Given the description of an element on the screen output the (x, y) to click on. 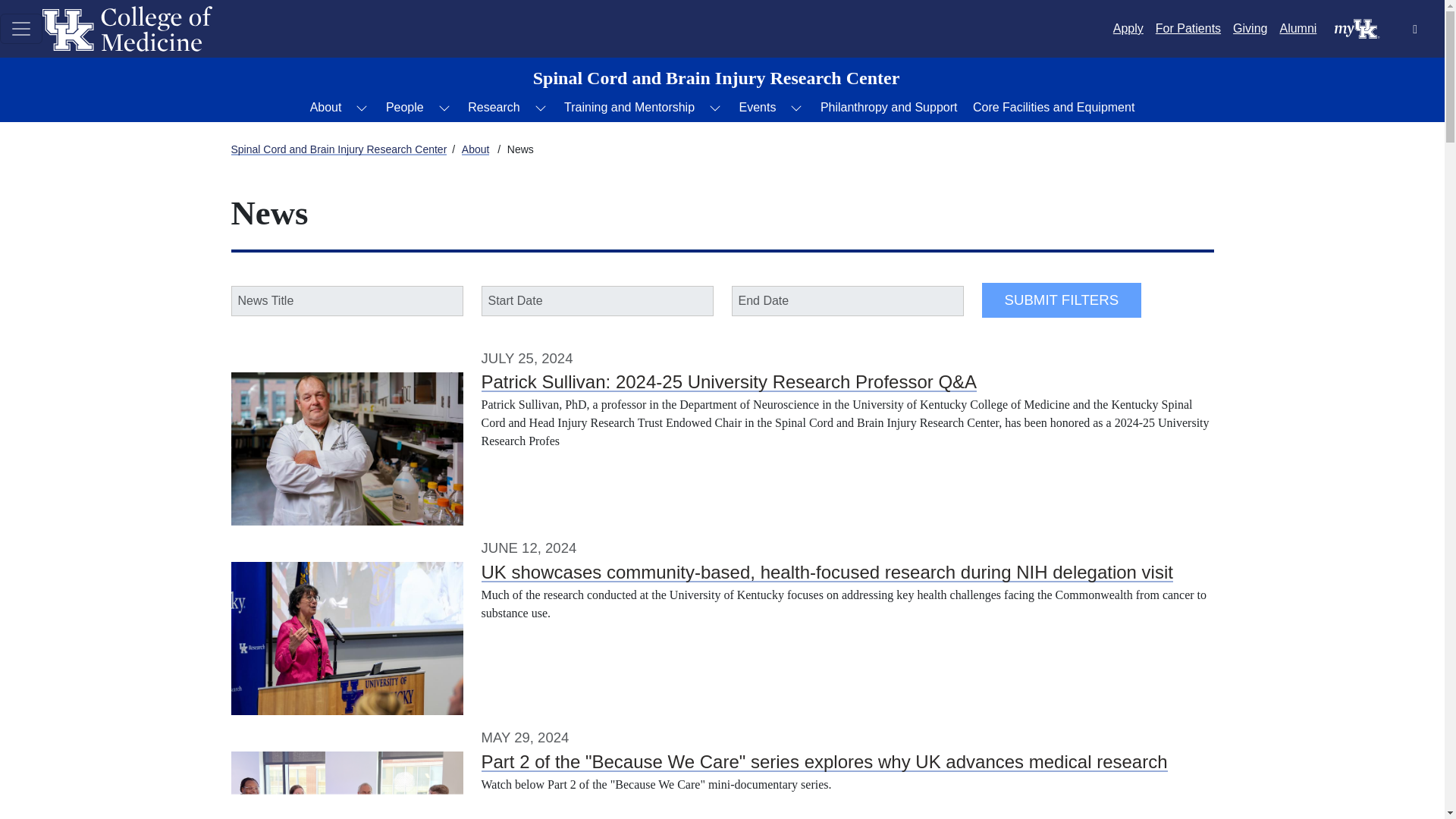
Research (493, 107)
Submit Filters (1061, 299)
About (325, 107)
Philanthropy and Funding (888, 107)
Log into the myUK portal (1357, 27)
